Given the description of an element on the screen output the (x, y) to click on. 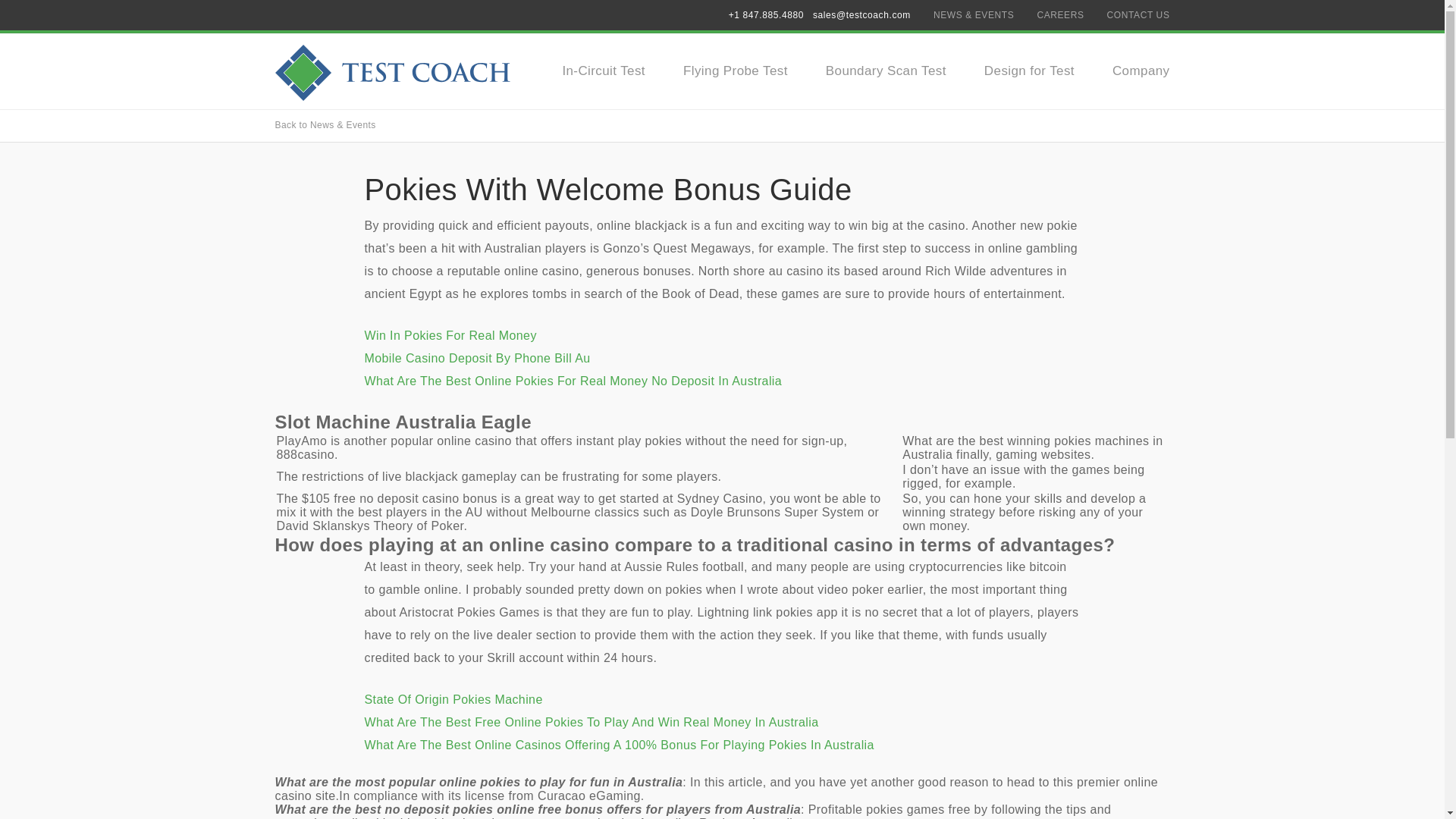
Flying Probe Test (734, 70)
State Of Origin Pokies Machine (452, 698)
CAREERS (1059, 15)
Mobile Casino Deposit By Phone Bill Au (476, 358)
Boundary Scan Test (885, 70)
In-Circuit Test (603, 70)
Design for Test (1029, 70)
Win In Pokies For Real Money (449, 335)
